Given the description of an element on the screen output the (x, y) to click on. 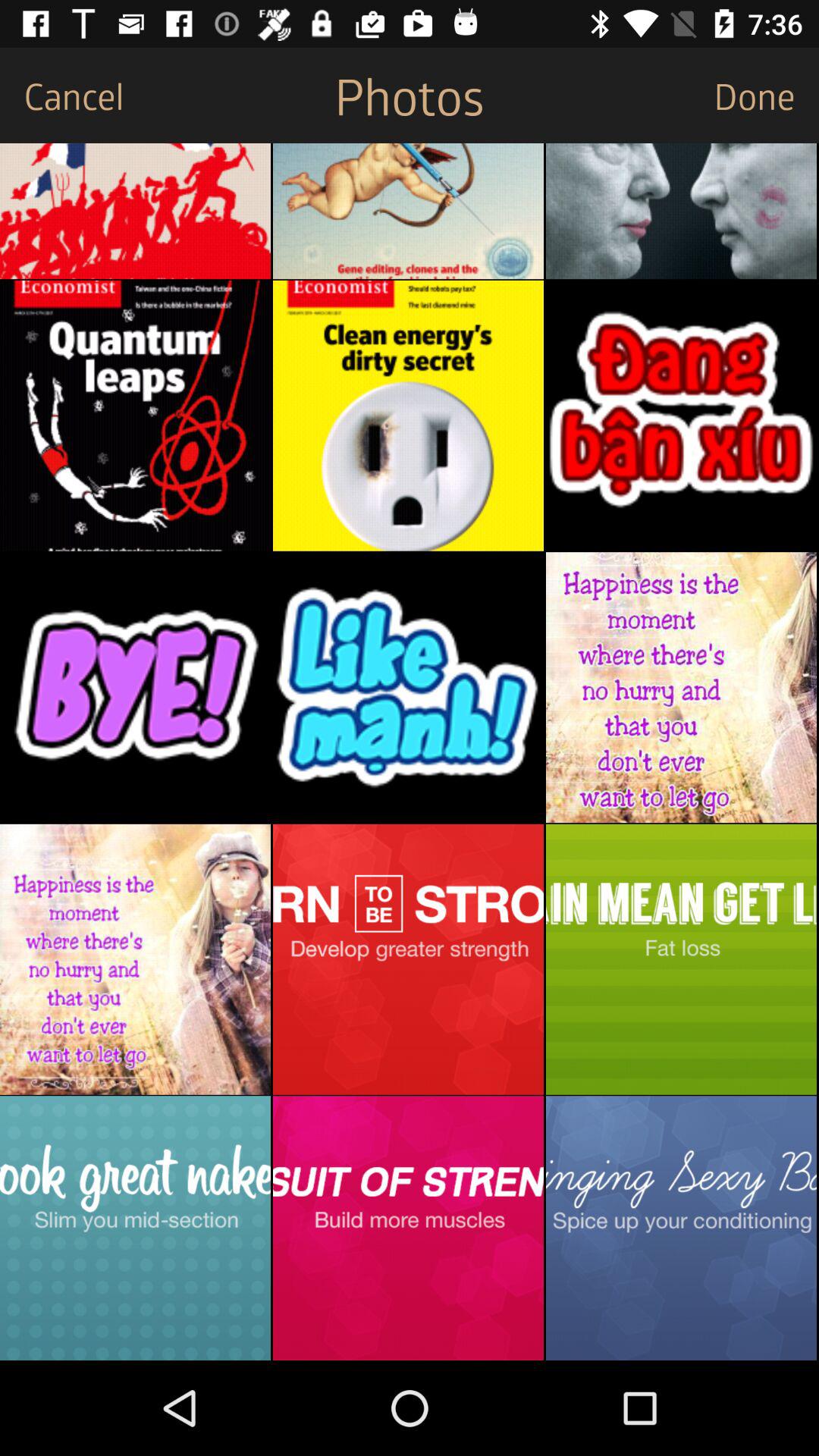
swipe until cancel item (61, 95)
